Given the description of an element on the screen output the (x, y) to click on. 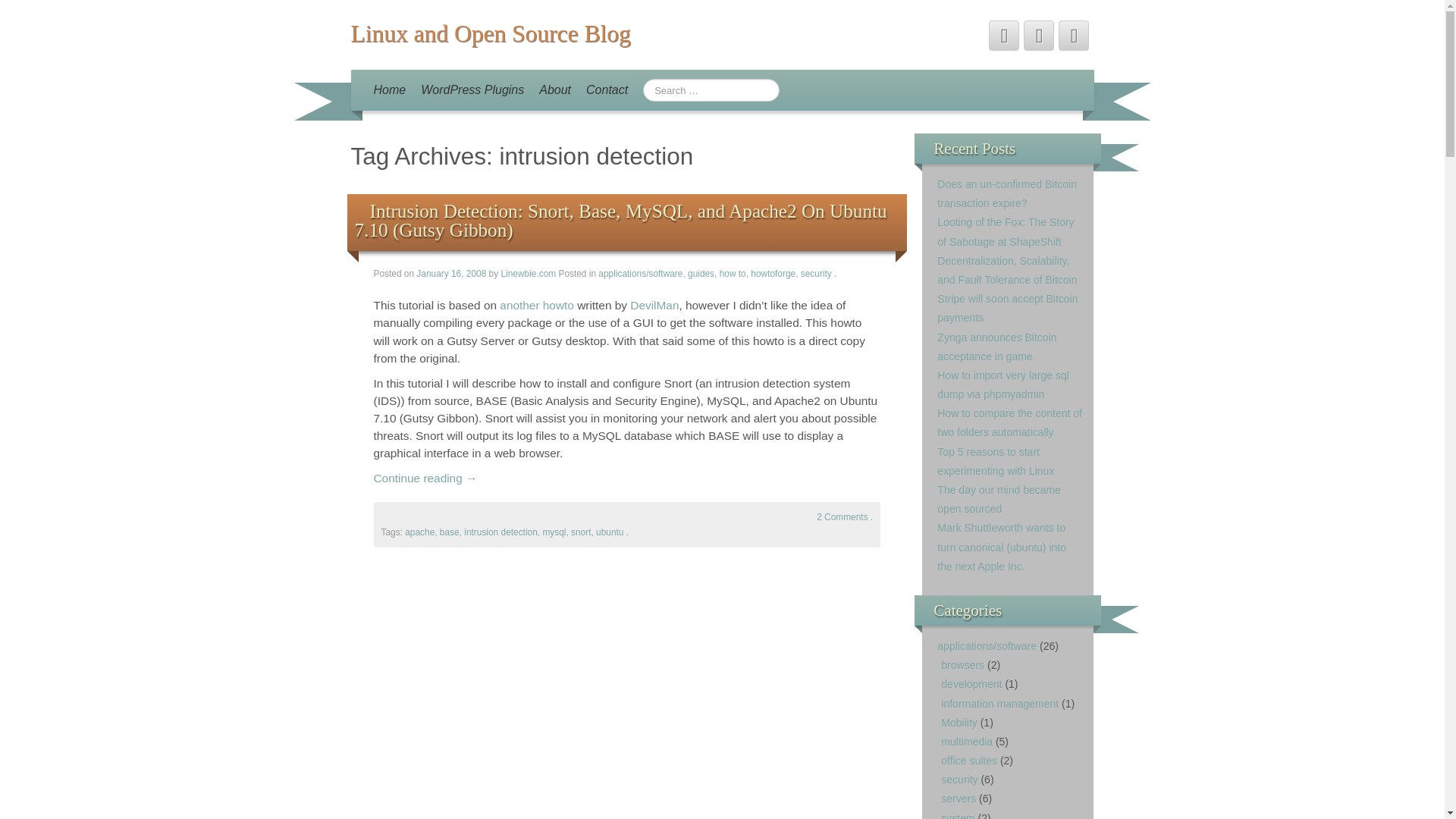
security (815, 273)
Contact (606, 89)
Stripe will soon accept Bitcoin payments (1007, 307)
WordPress Plugins (472, 89)
How to import very large sql dump via phpmyadmin (1002, 384)
howtoforge (772, 273)
How to compare the content of two folders automatically (1009, 422)
Linux and Open Source Blog Facebook (1038, 35)
apache (418, 532)
Linewbie.com (528, 273)
